Given the description of an element on the screen output the (x, y) to click on. 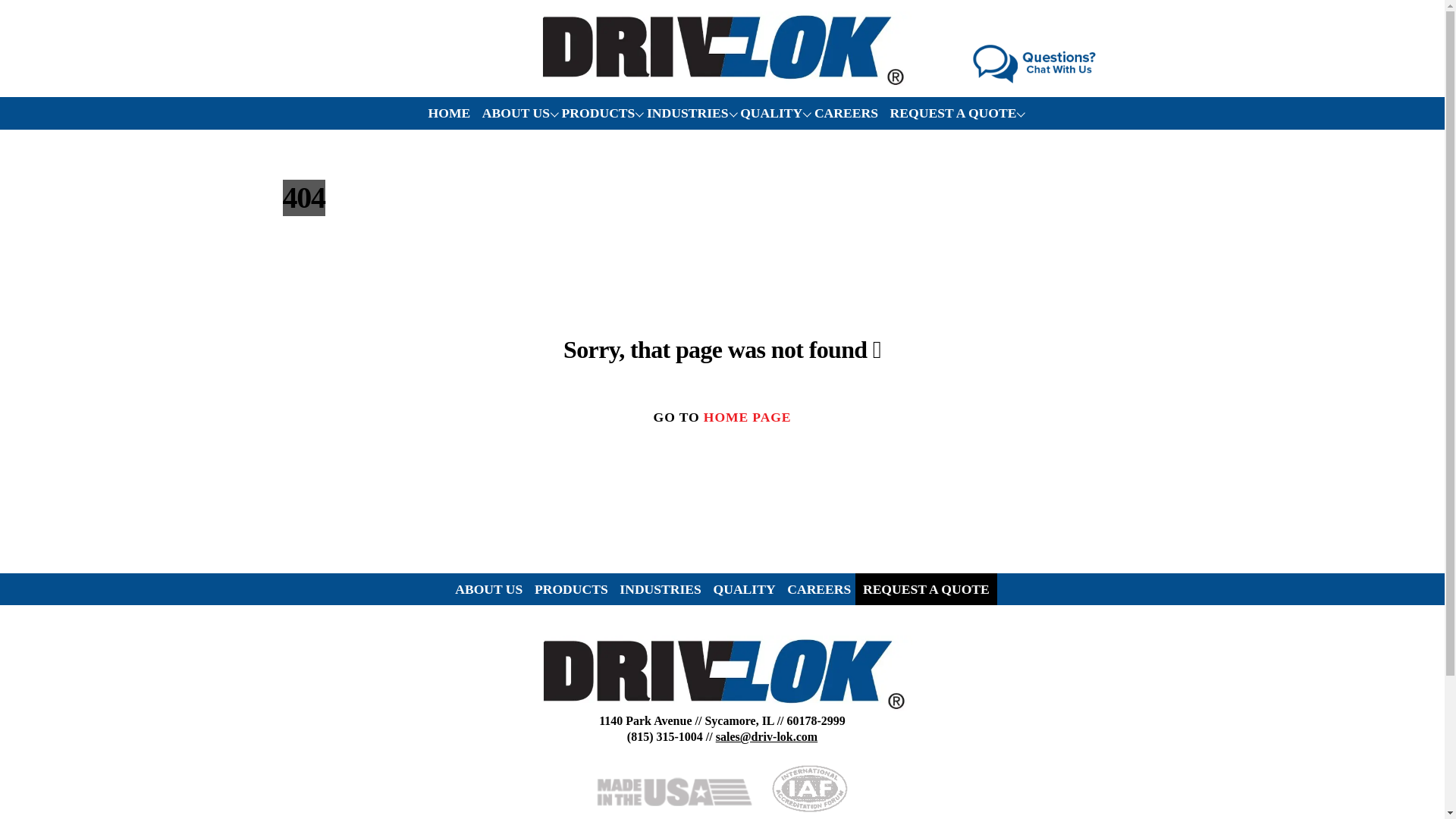
ABOUT USPRODUCTSINDUSTRIESQUALITYCAREERSREQUEST A QUOTE (722, 589)
404 (721, 50)
404 (1036, 64)
404 (721, 674)
